Given the description of an element on the screen output the (x, y) to click on. 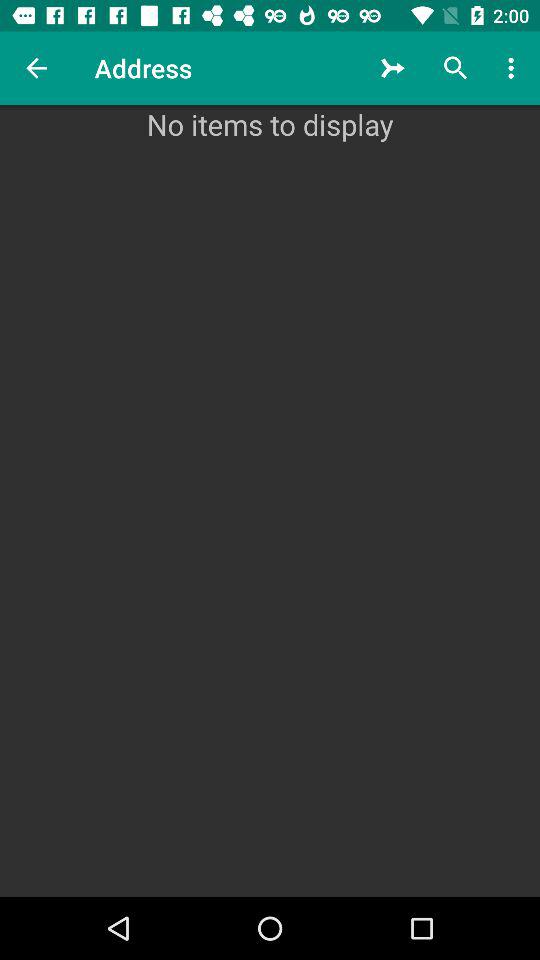
turn off item to the left of the address icon (36, 68)
